Given the description of an element on the screen output the (x, y) to click on. 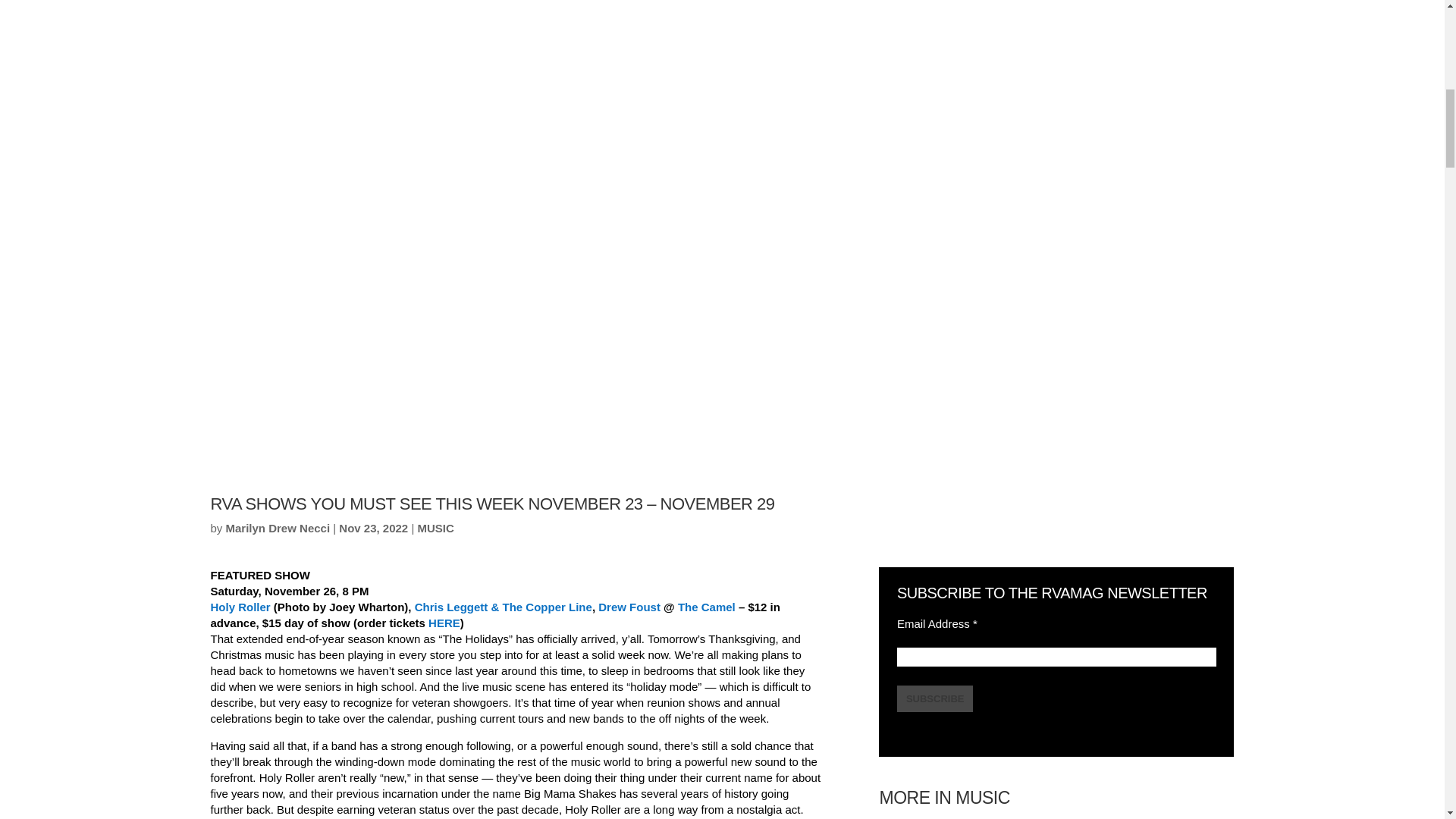
Marilyn Drew Necci (277, 527)
HERE (444, 622)
Posts by Marilyn Drew Necci (277, 527)
MUSIC (434, 527)
The Camel (706, 606)
Holy Roller (240, 606)
Subscribe (935, 698)
Drew Foust (629, 606)
